Given the description of an element on the screen output the (x, y) to click on. 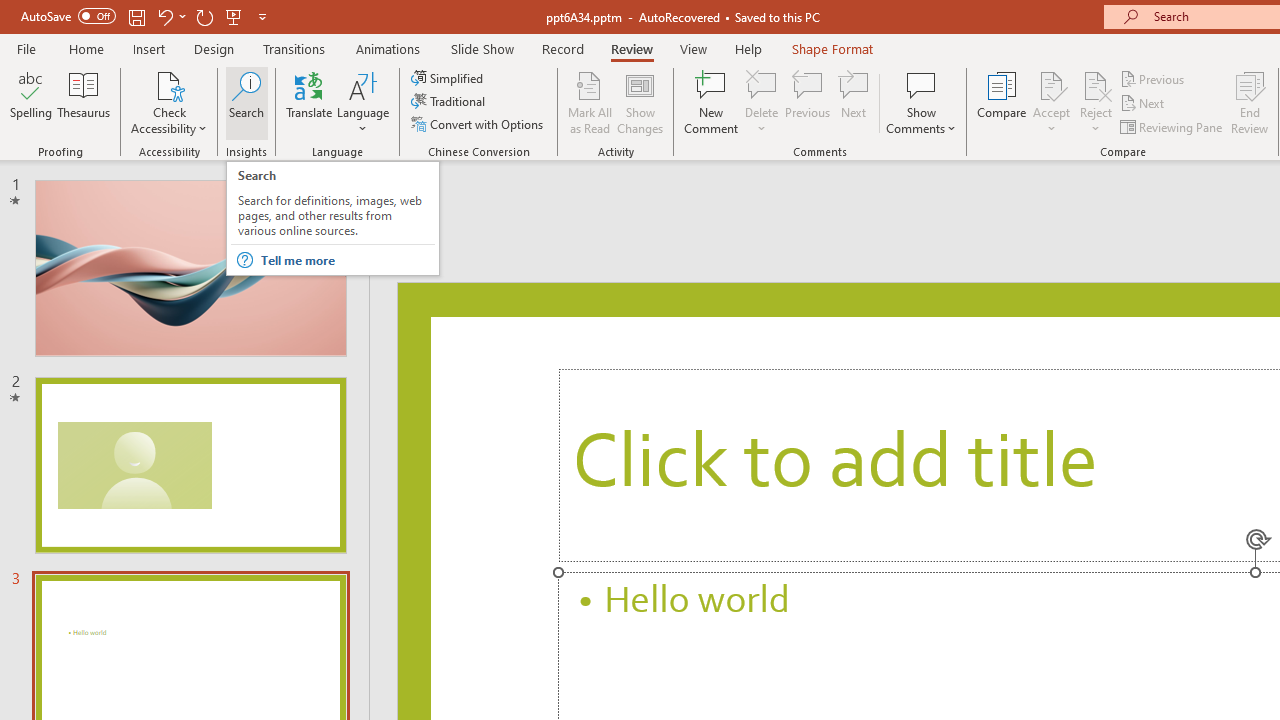
Shape Format (832, 48)
Check Accessibility (169, 102)
Language (363, 102)
Check Accessibility (169, 84)
